Given the description of an element on the screen output the (x, y) to click on. 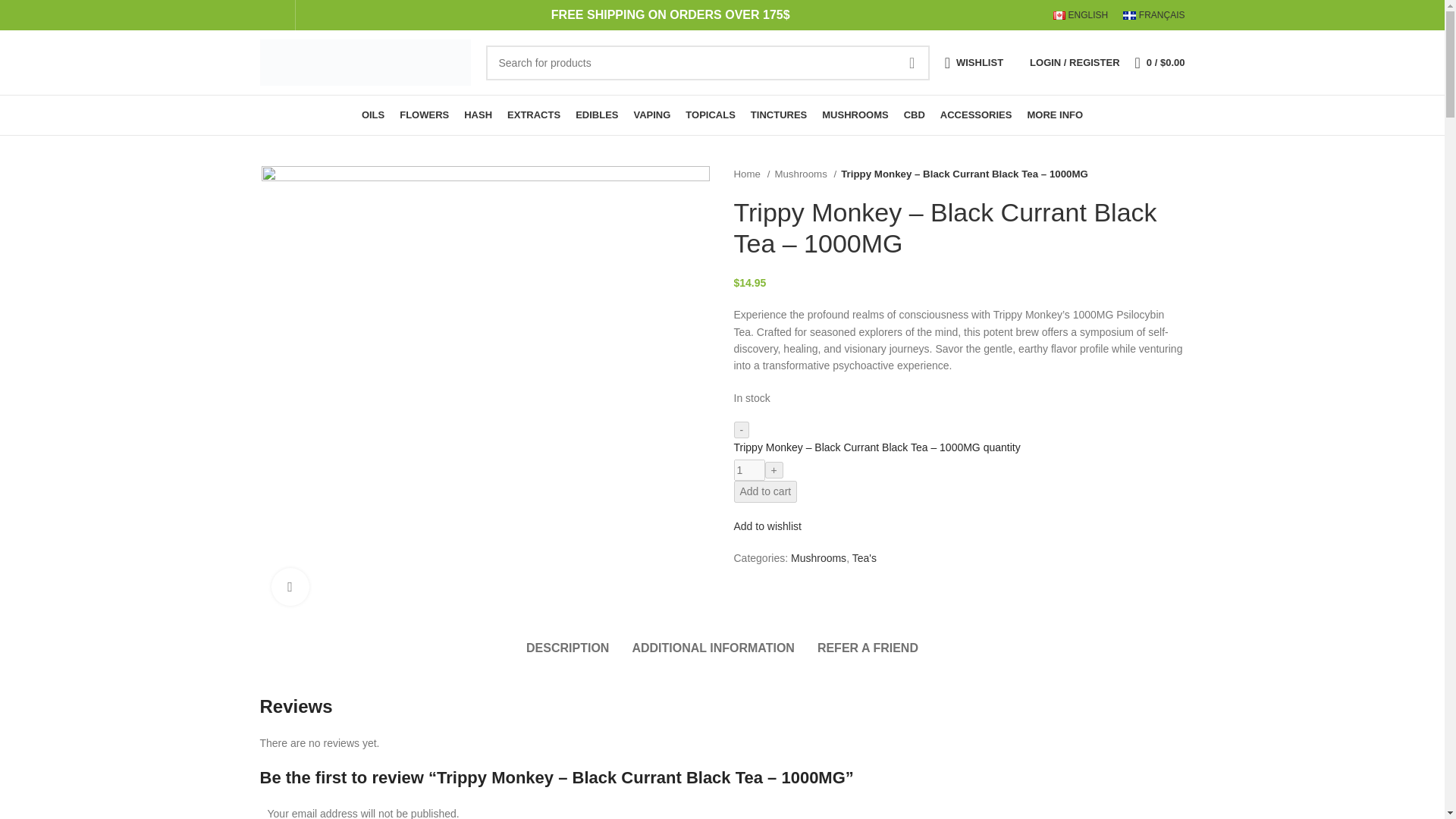
My Wishlist (973, 61)
FLOWERS (423, 114)
1 (749, 469)
EXTRACTS (533, 114)
Search (912, 62)
Search for products (706, 62)
Shopping cart (1159, 61)
HASH (478, 114)
- (741, 429)
ENGLISH (1080, 15)
